Given the description of an element on the screen output the (x, y) to click on. 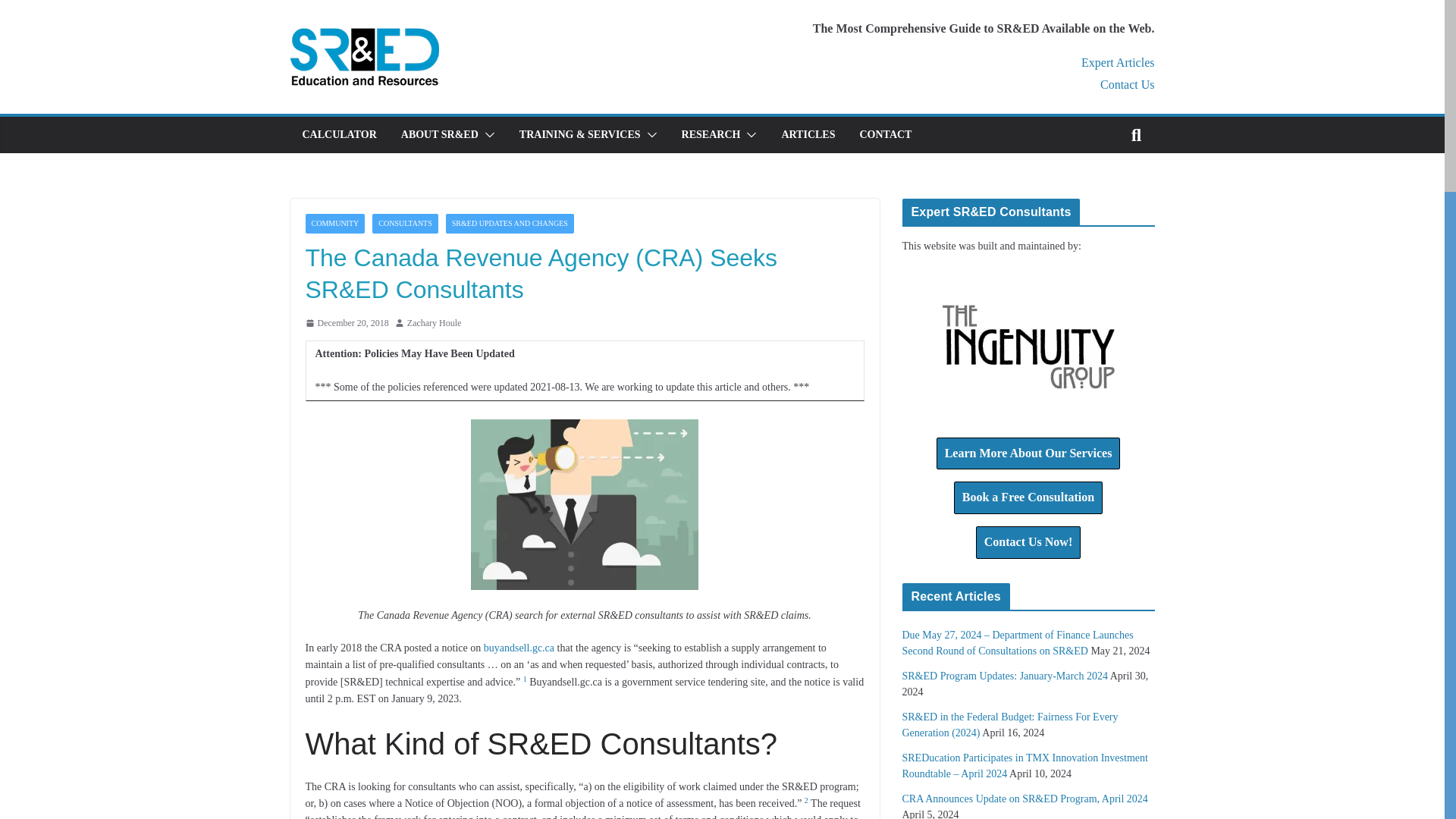
CONTACT (885, 134)
buyandsell.gc.ca (518, 647)
Zachary Houle (434, 323)
Contact Us (1127, 83)
RESEARCH (711, 134)
ARTICLES (807, 134)
CONSULTANTS (405, 223)
Expert Articles (1117, 62)
9:00 am (346, 323)
COMMUNITY (334, 223)
